Given the description of an element on the screen output the (x, y) to click on. 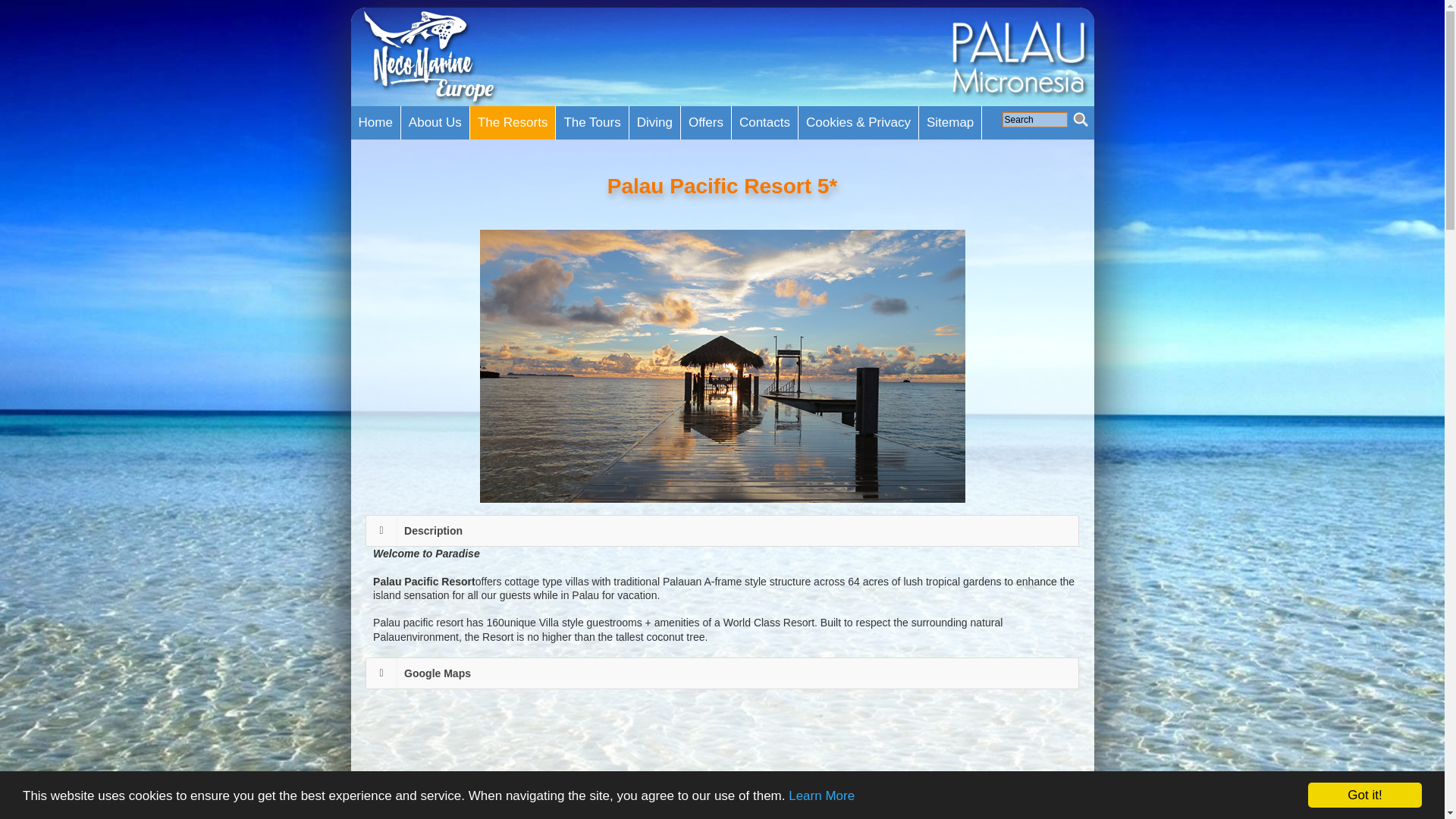
Search (1035, 119)
Sitemap (949, 122)
The Resorts (513, 122)
Contacts (764, 122)
About Us (434, 122)
Diving (653, 122)
Description (737, 530)
Google Maps (737, 673)
Offers (705, 122)
Search (1035, 119)
Home (374, 122)
The Tours (591, 122)
